Given the description of an element on the screen output the (x, y) to click on. 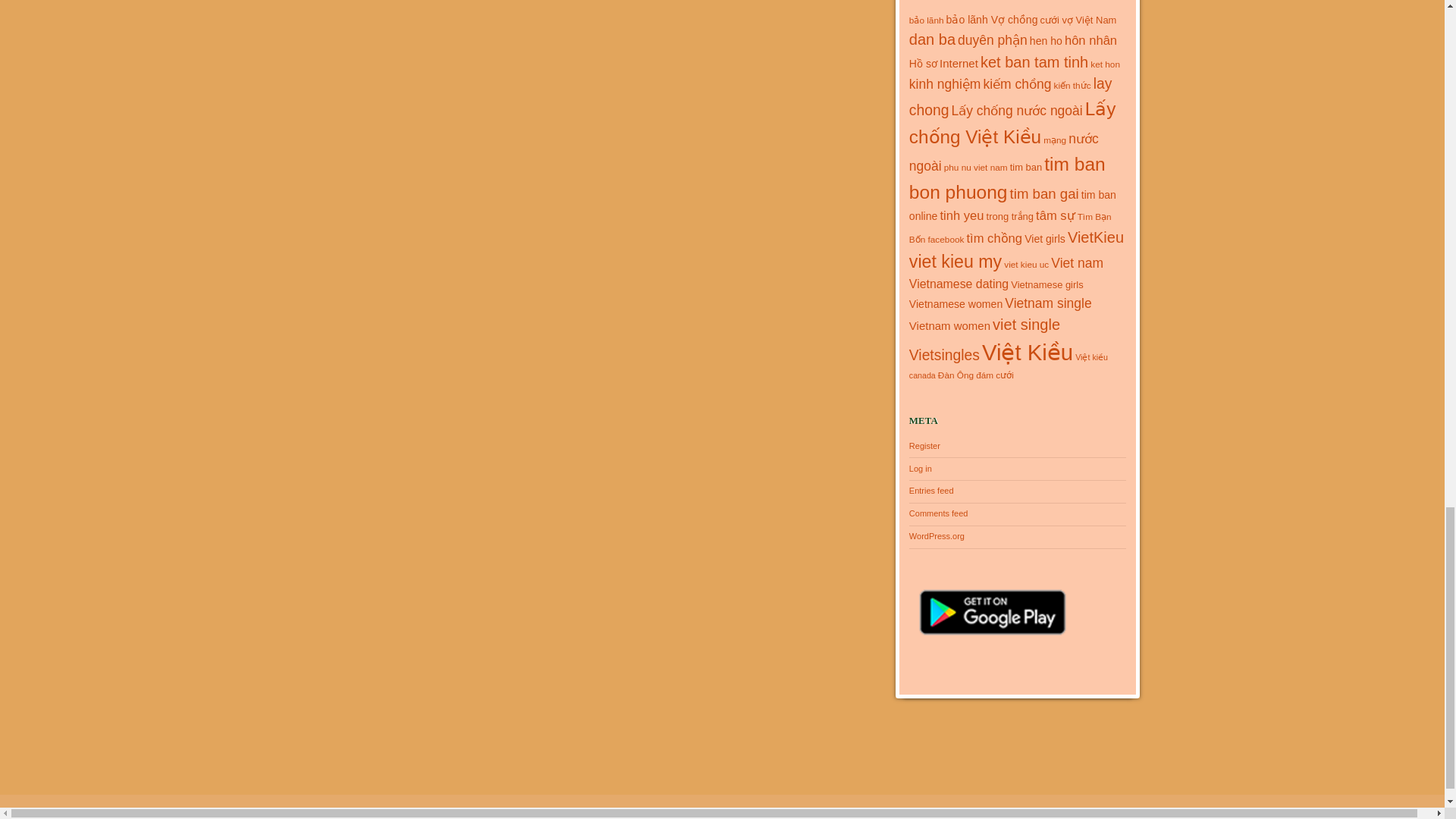
Semantic Personal Publishing Platform (108, 810)
